Given the description of an element on the screen output the (x, y) to click on. 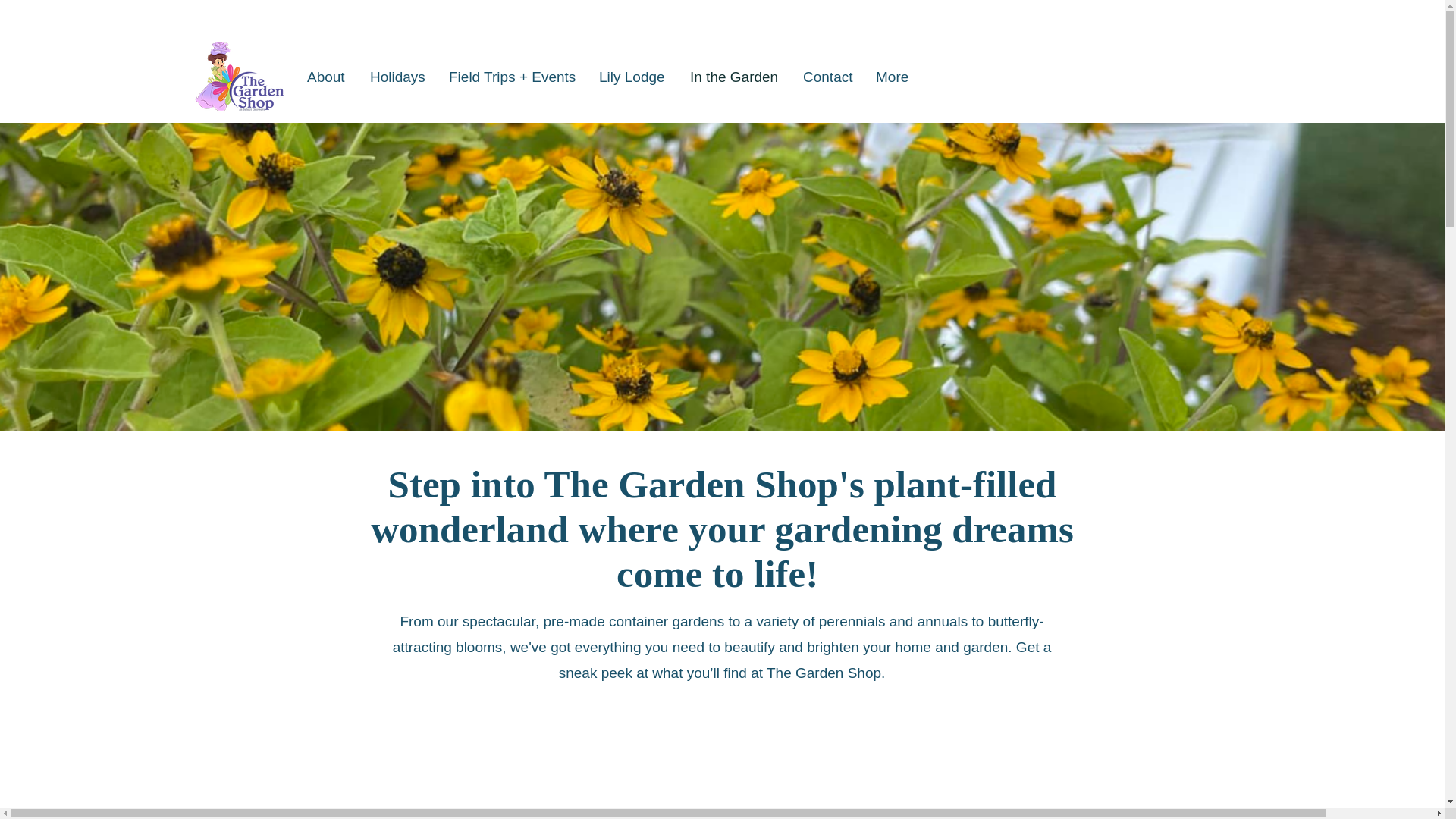
Contact (828, 77)
In the Garden (735, 77)
Lily Lodge (633, 77)
Holidays (398, 77)
About (326, 77)
